Given the description of an element on the screen output the (x, y) to click on. 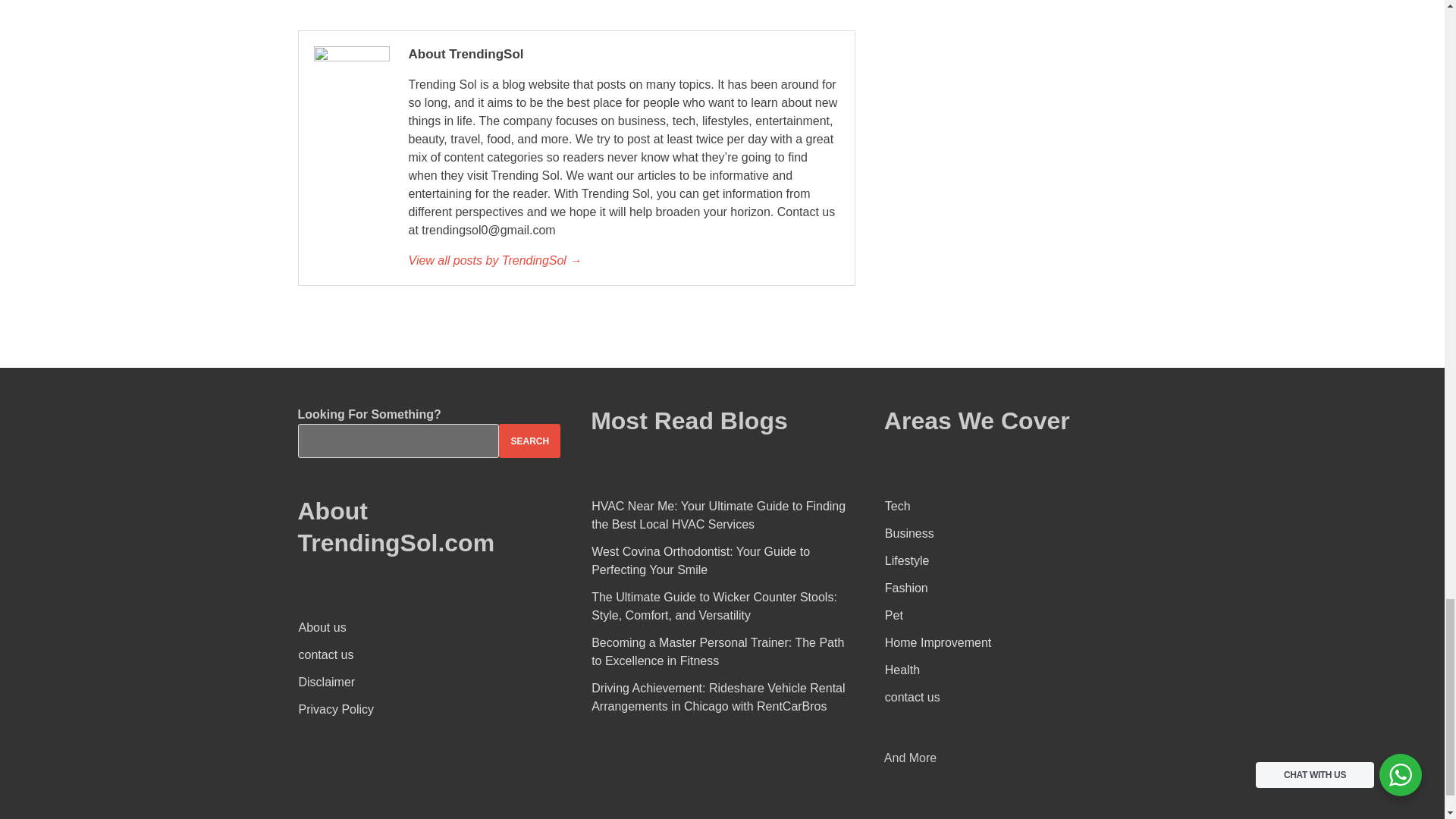
TrendingSol (622, 260)
